Given the description of an element on the screen output the (x, y) to click on. 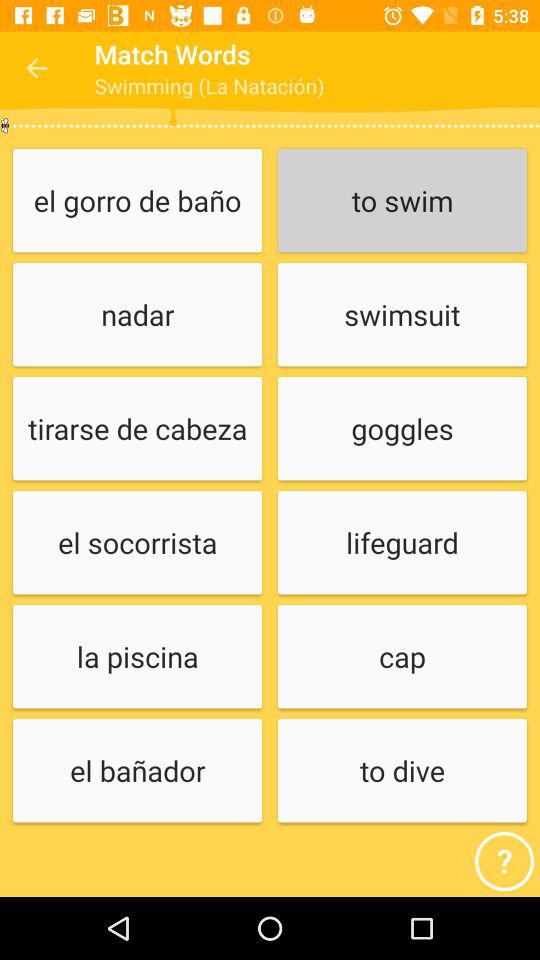
select icon above el socorrista (137, 429)
